Given the description of an element on the screen output the (x, y) to click on. 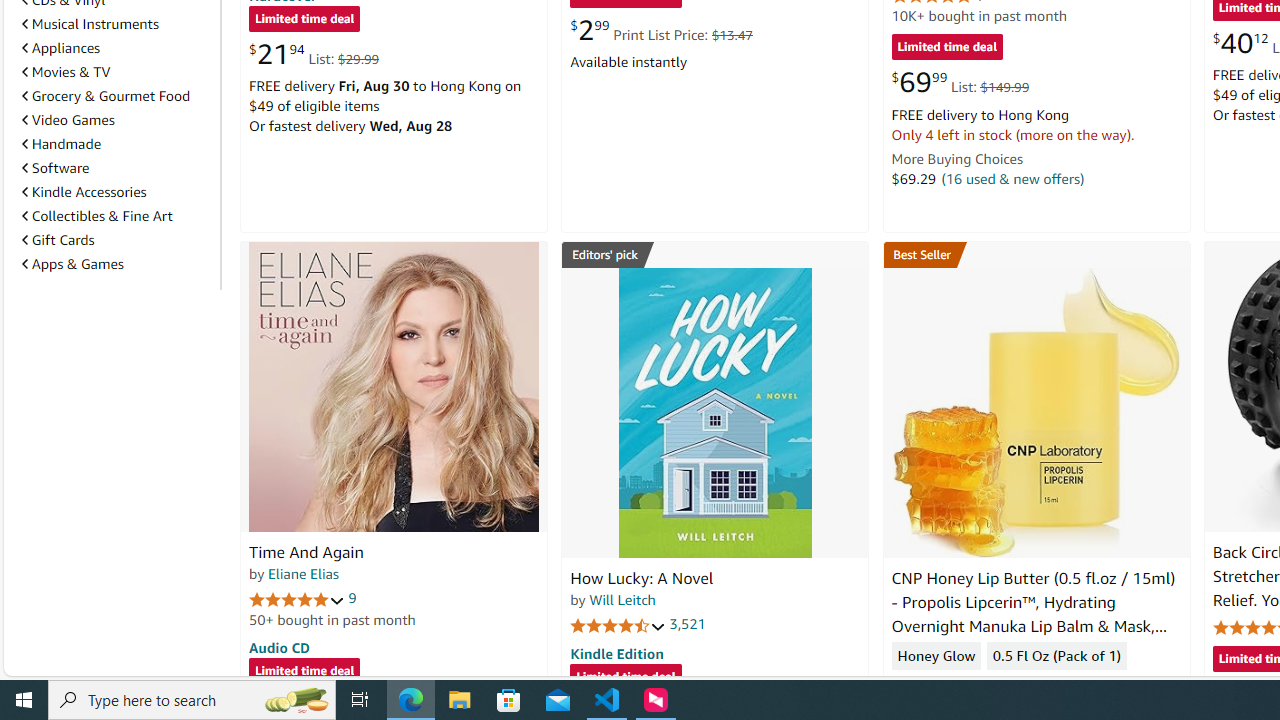
Musical Instruments (89, 24)
3,521 (687, 624)
Kindle Accessories (84, 191)
Eliane Elias (303, 573)
Apps & Games (117, 264)
Handmade (61, 143)
Gift Cards (57, 240)
5.0 out of 5 stars (297, 598)
Apps & Games (72, 263)
Editors' pick Best Mystery, Thriller & Suspense (715, 254)
How Lucky: A Novel (714, 412)
Video Games (117, 120)
(16 used & new offers) (1012, 178)
Musical Instruments (117, 23)
